Given the description of an element on the screen output the (x, y) to click on. 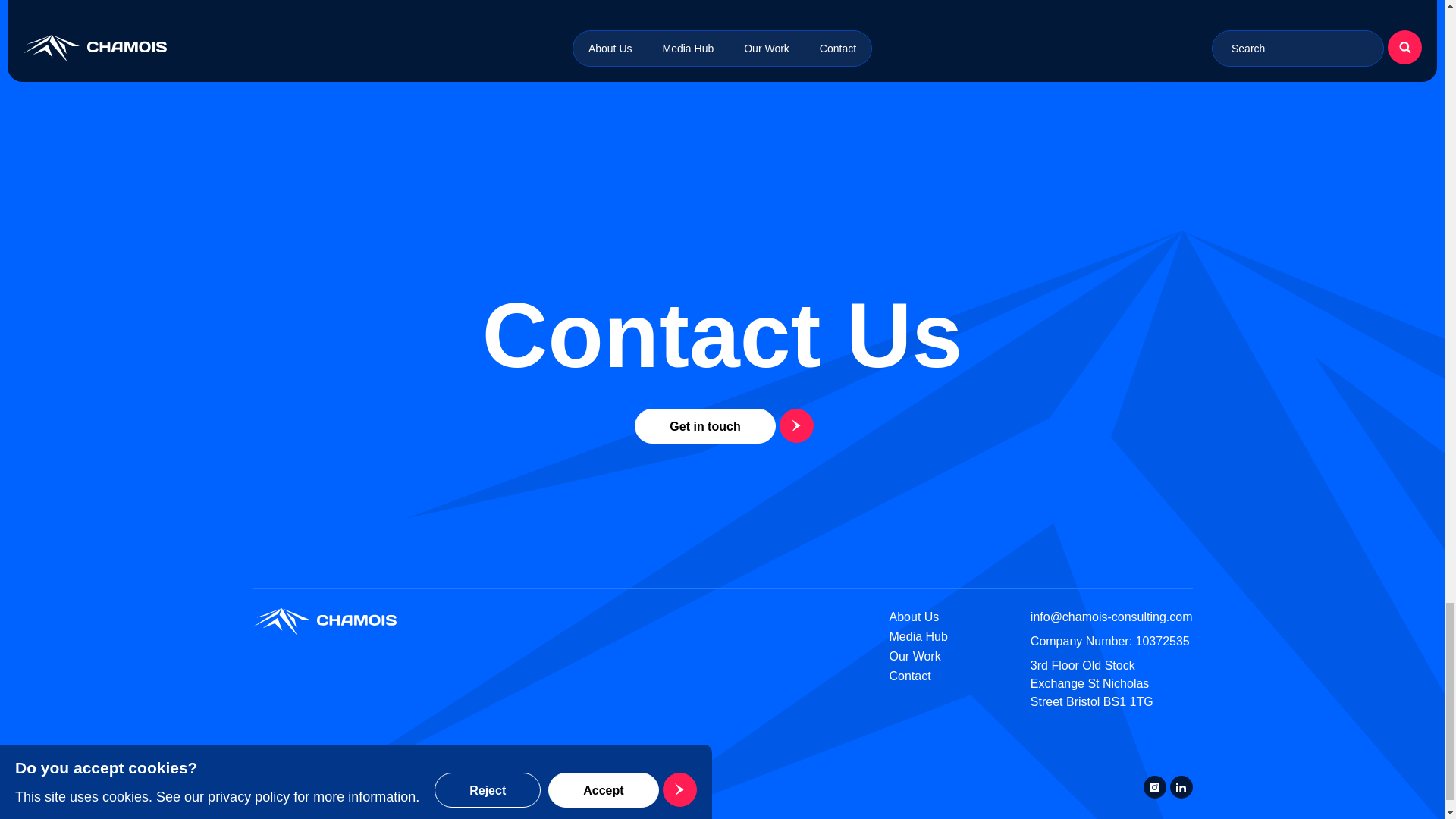
Our Work (914, 656)
Get in touch (721, 425)
About Us (914, 616)
Media Hub (918, 635)
